Given the description of an element on the screen output the (x, y) to click on. 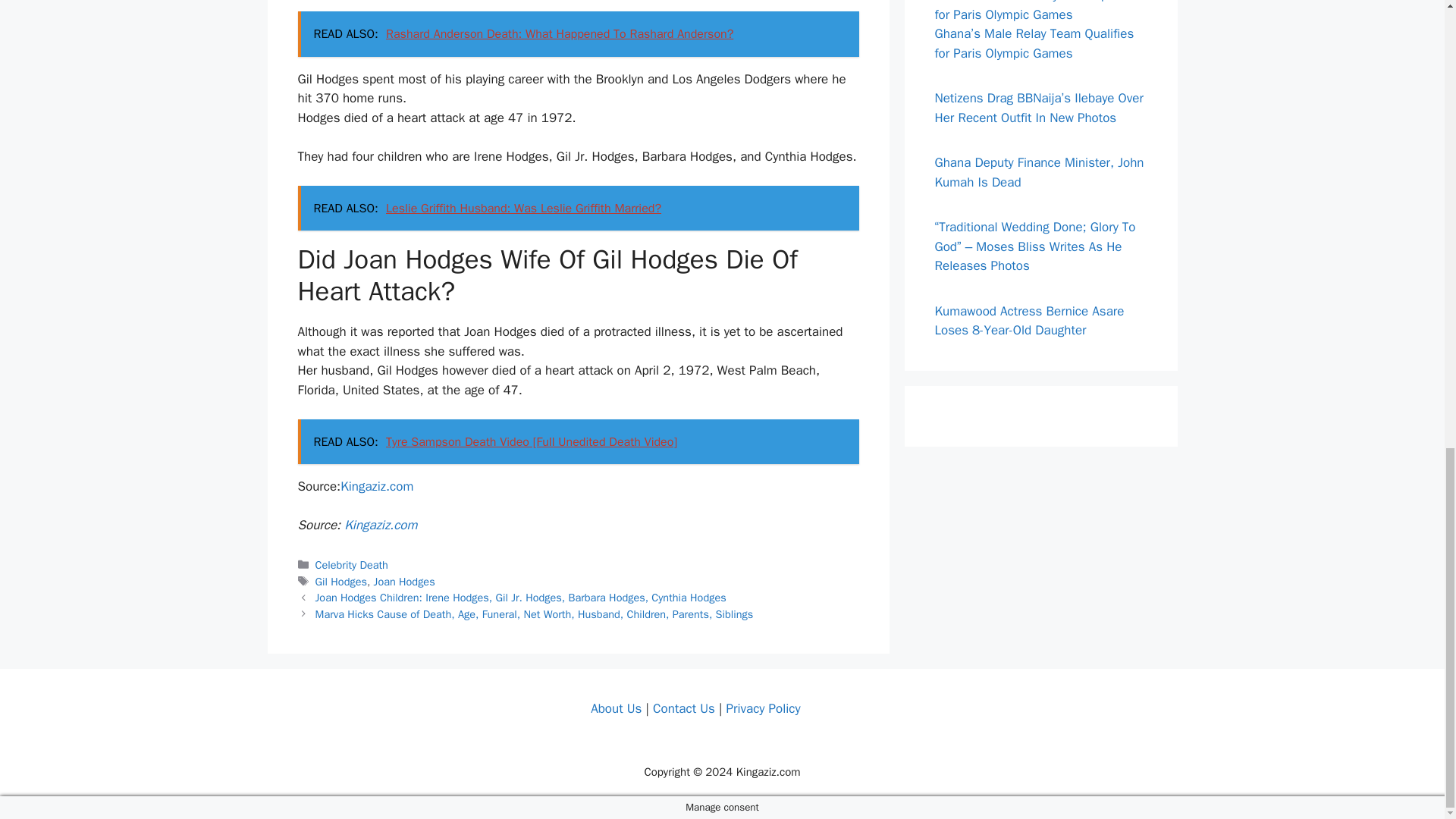
Kingaziz.com (379, 524)
Gil Hodges (340, 581)
Joan Hodges (404, 581)
Ghana Deputy Finance Minister, John Kumah Is Dead (1038, 172)
Privacy Policy (762, 708)
About Us (616, 708)
Contact Us (683, 708)
